Given the description of an element on the screen output the (x, y) to click on. 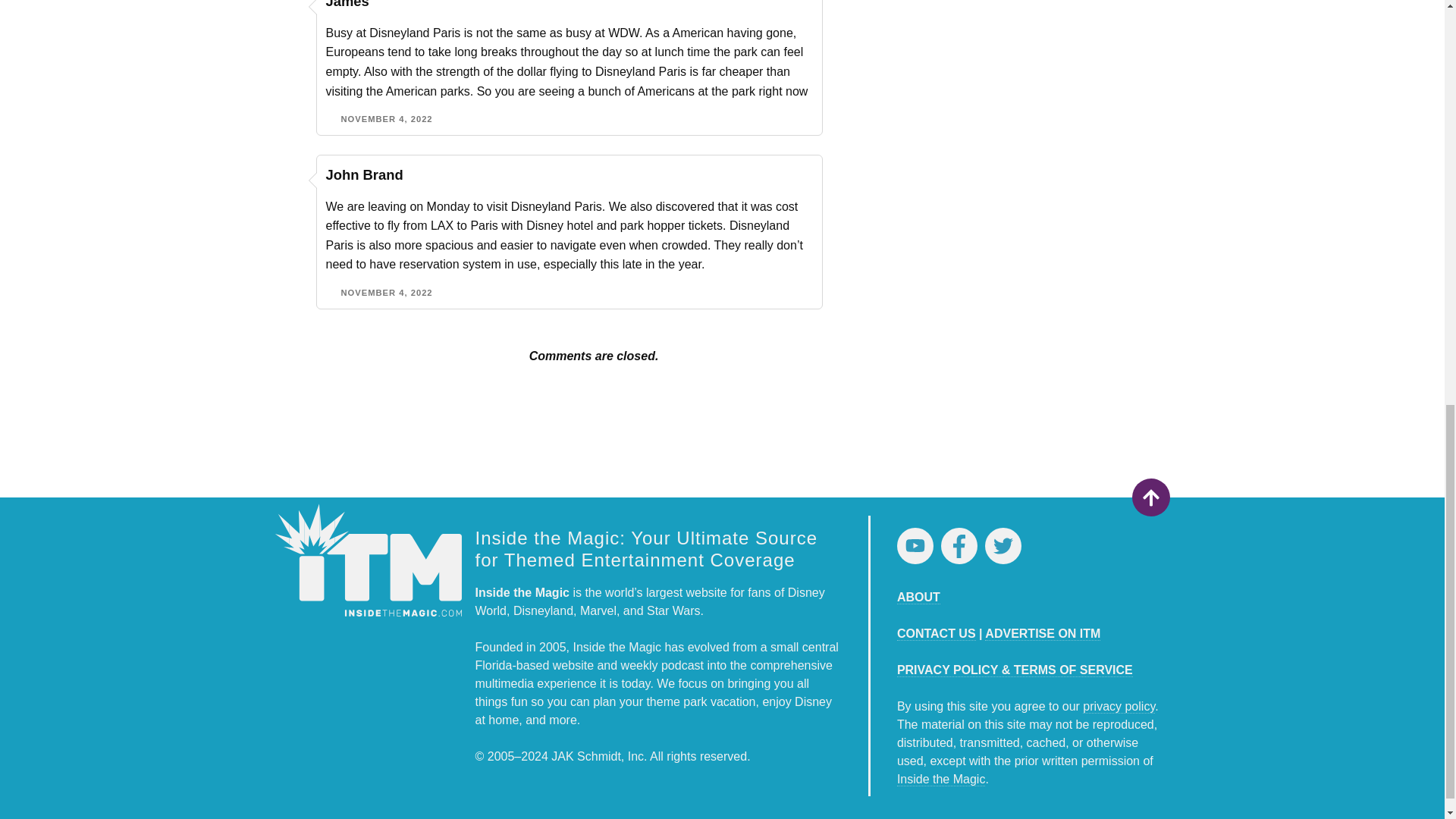
Return to Top (1150, 497)
November 4, 2022 at 1:18 pm (386, 118)
November 4, 2022 at 5:36 pm (386, 292)
